Given the description of an element on the screen output the (x, y) to click on. 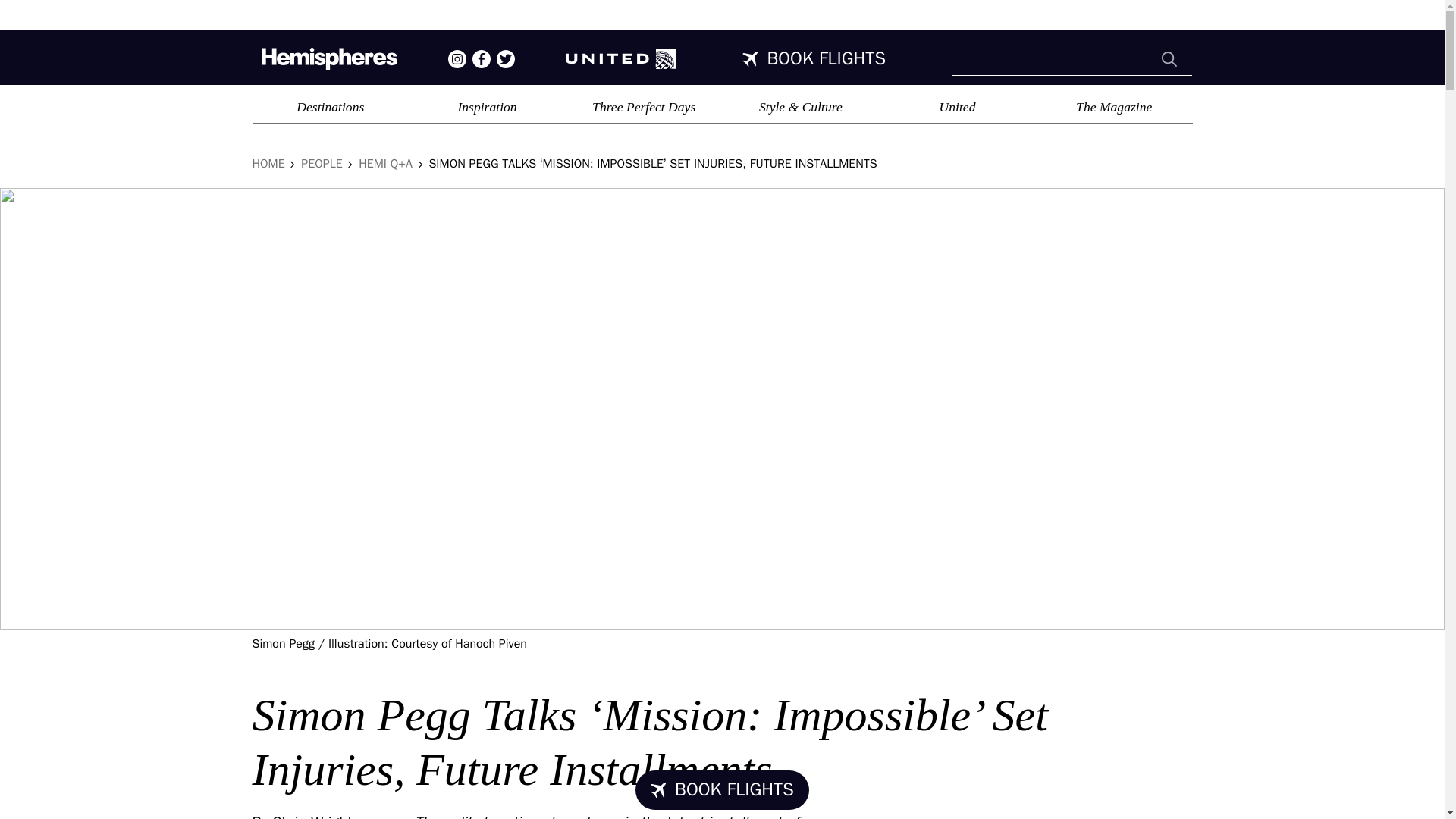
Inspiration (487, 106)
Facebook (480, 58)
Search (1168, 58)
BOOK FLIGHTS (813, 58)
Hemispheres (621, 58)
Destinations (330, 106)
Three Perfect Days (644, 106)
Instagram (456, 58)
Hemispheres (328, 58)
Twitter (505, 58)
